Given the description of an element on the screen output the (x, y) to click on. 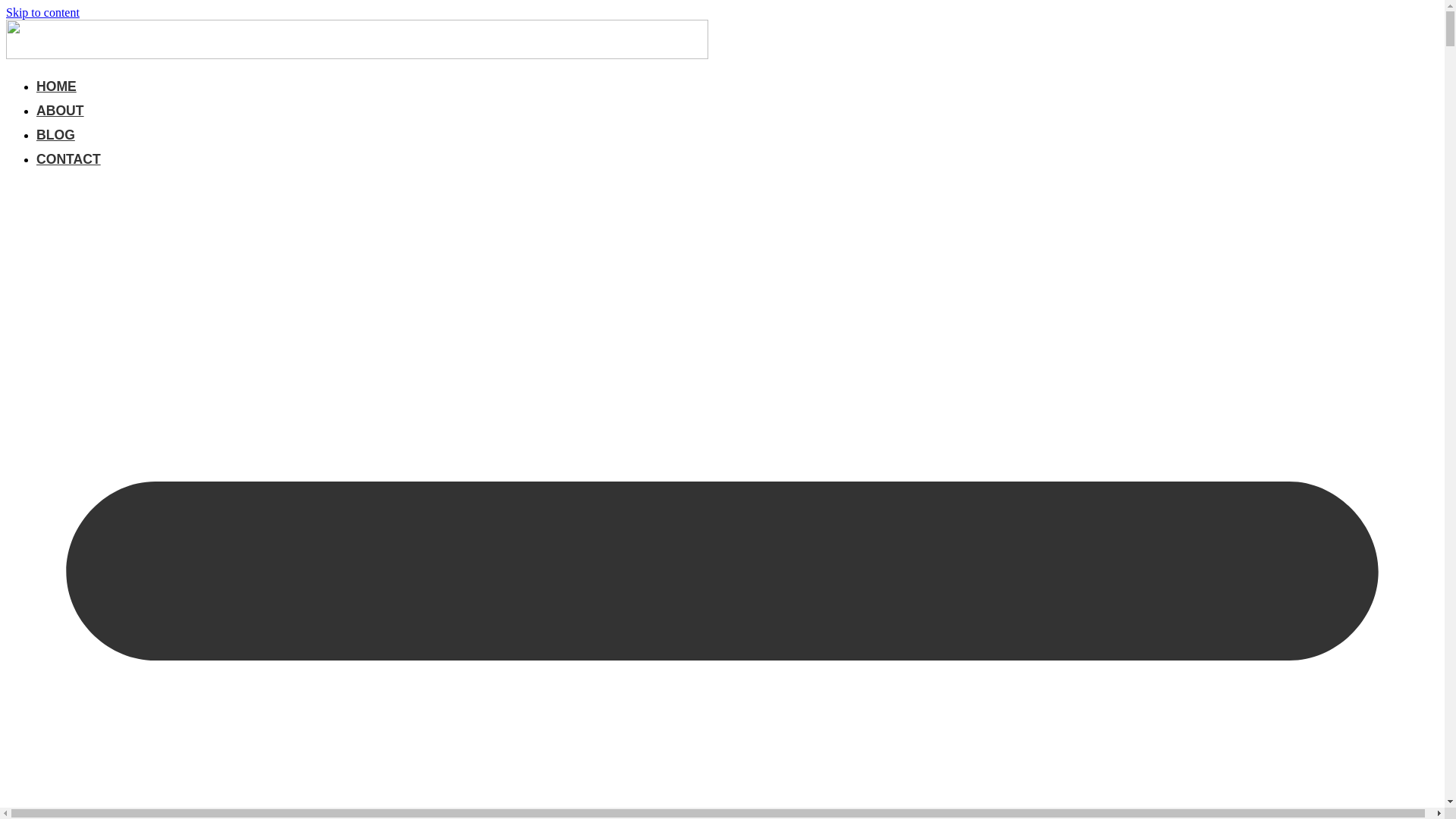
HOME (56, 86)
CONTACT (68, 159)
BLOG (55, 134)
Skip to content (42, 11)
ABOUT (60, 110)
